Given the description of an element on the screen output the (x, y) to click on. 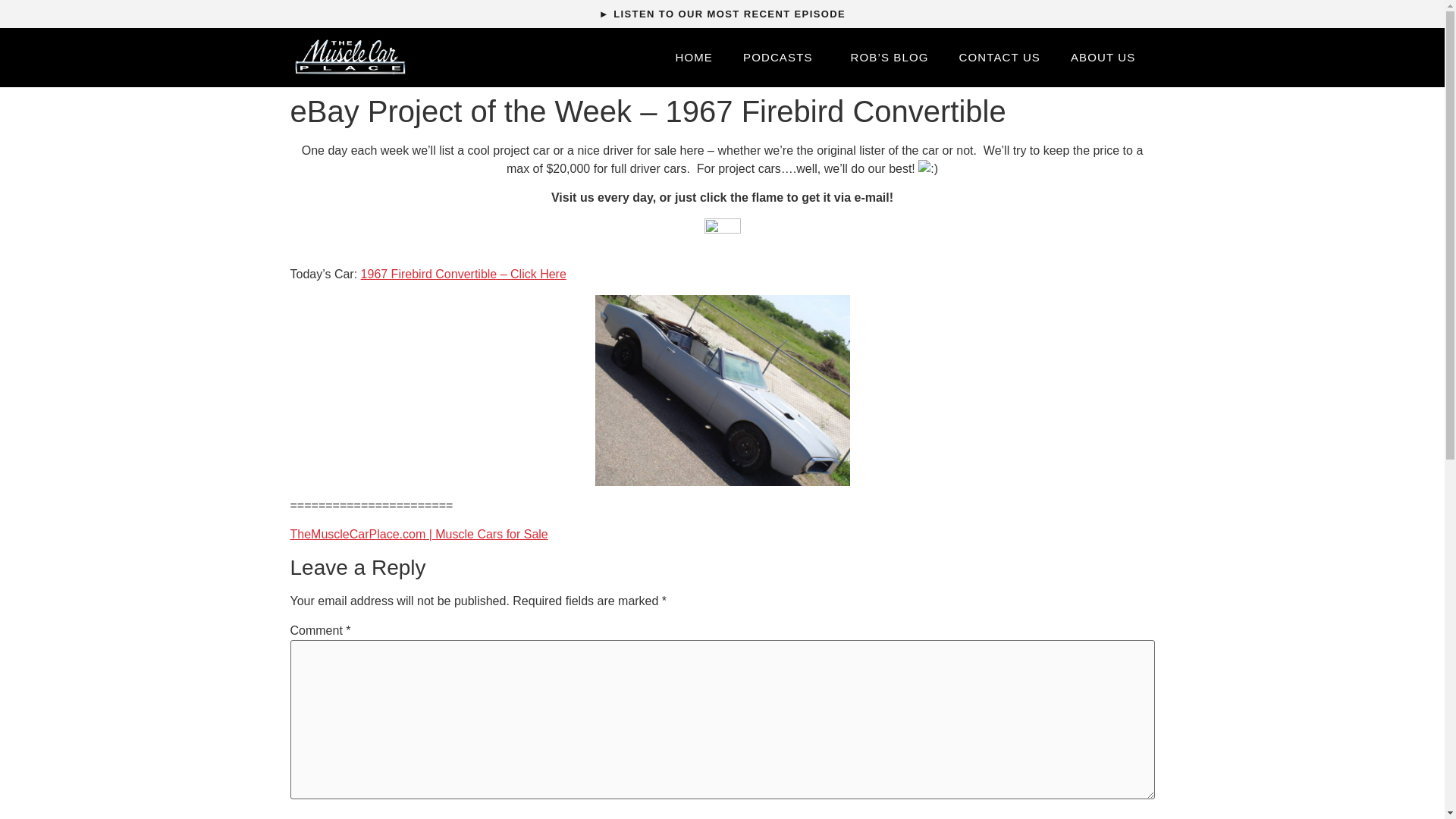
HOME (693, 57)
PODCASTS (781, 57)
CONTACT US (999, 57)
ABOUT US (1102, 57)
67firebird (721, 390)
